Given the description of an element on the screen output the (x, y) to click on. 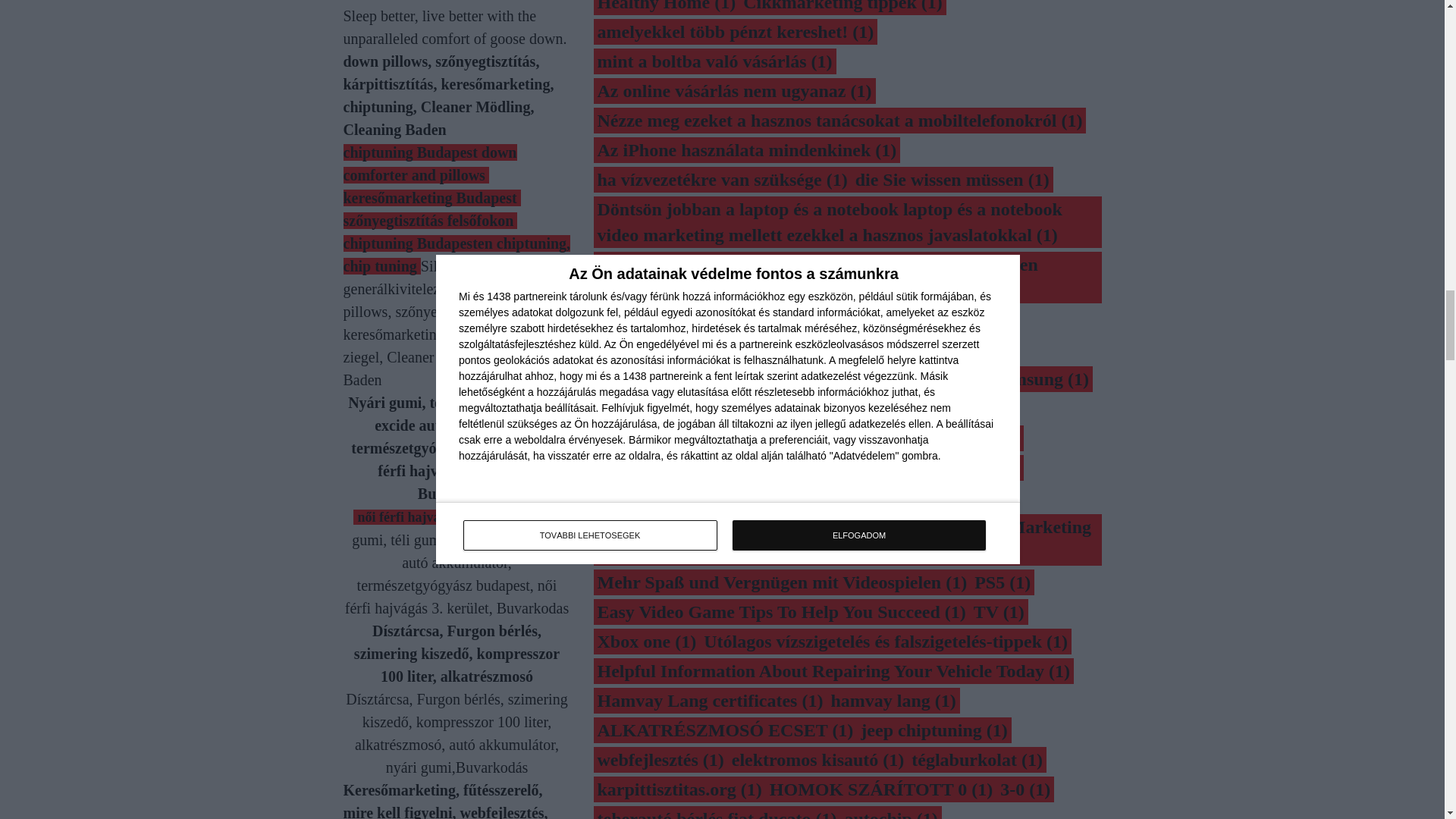
chiptuning (417, 243)
chiptuning, chip tuning (456, 254)
chiptuning at (409, 152)
down comforter (429, 163)
